Given the description of an element on the screen output the (x, y) to click on. 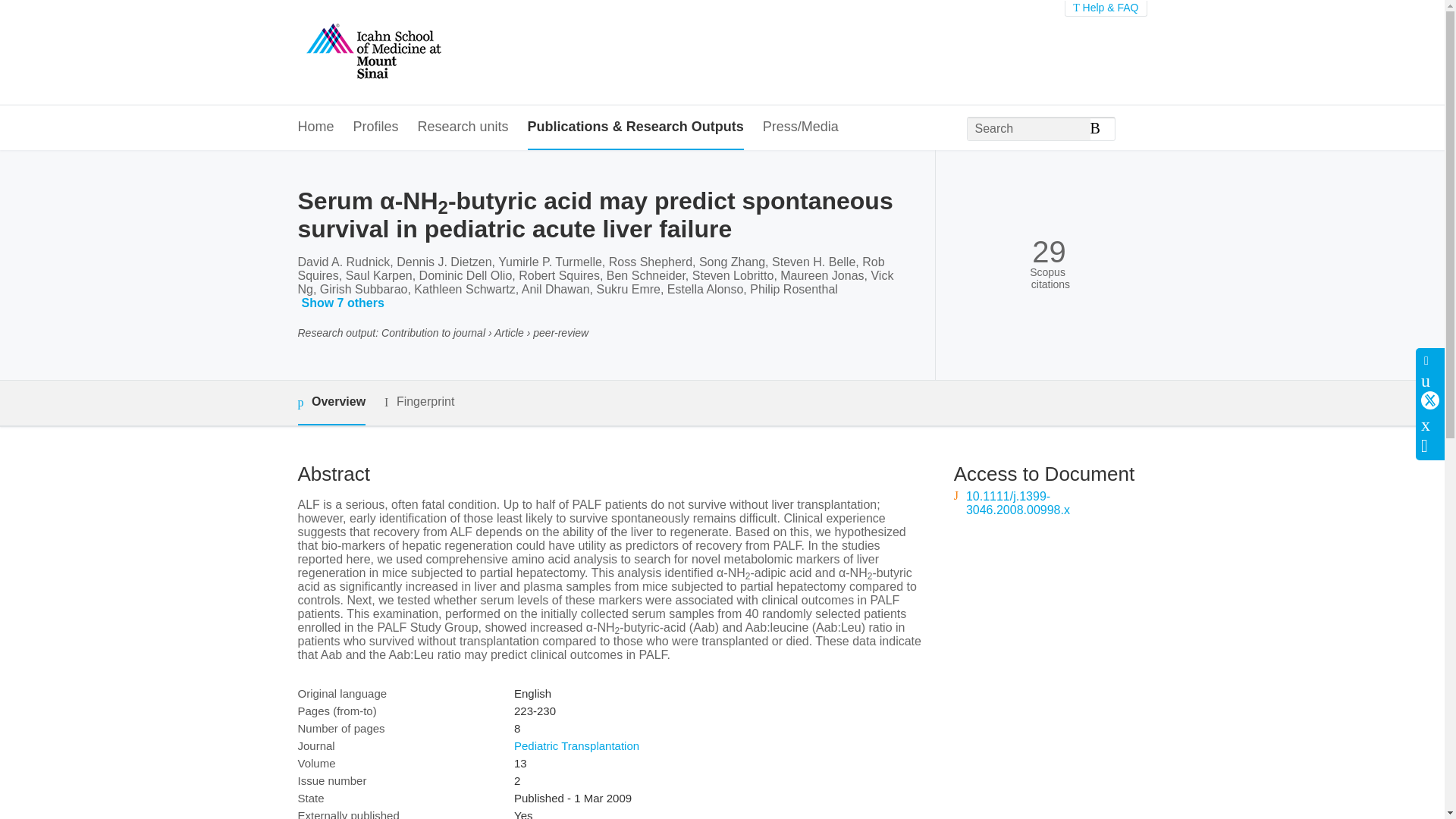
Profiles (375, 127)
Show 7 others (345, 304)
Pediatric Transplantation (576, 745)
Research units (462, 127)
Icahn School of Medicine at Mount Sinai Home (372, 52)
Fingerprint (419, 402)
Overview (331, 402)
